Given the description of an element on the screen output the (x, y) to click on. 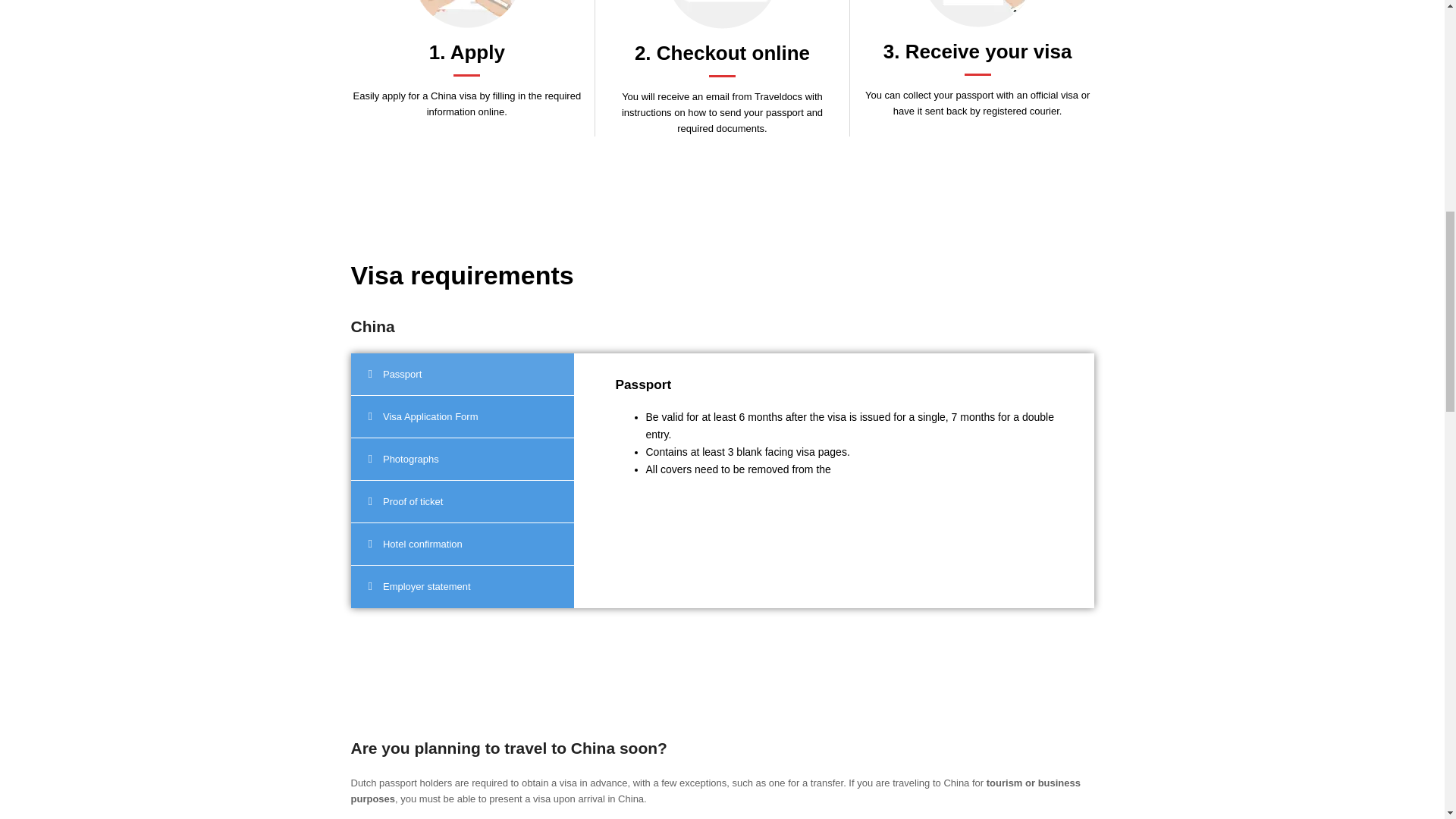
Visa Application Form (461, 416)
Passport (461, 373)
